Given the description of an element on the screen output the (x, y) to click on. 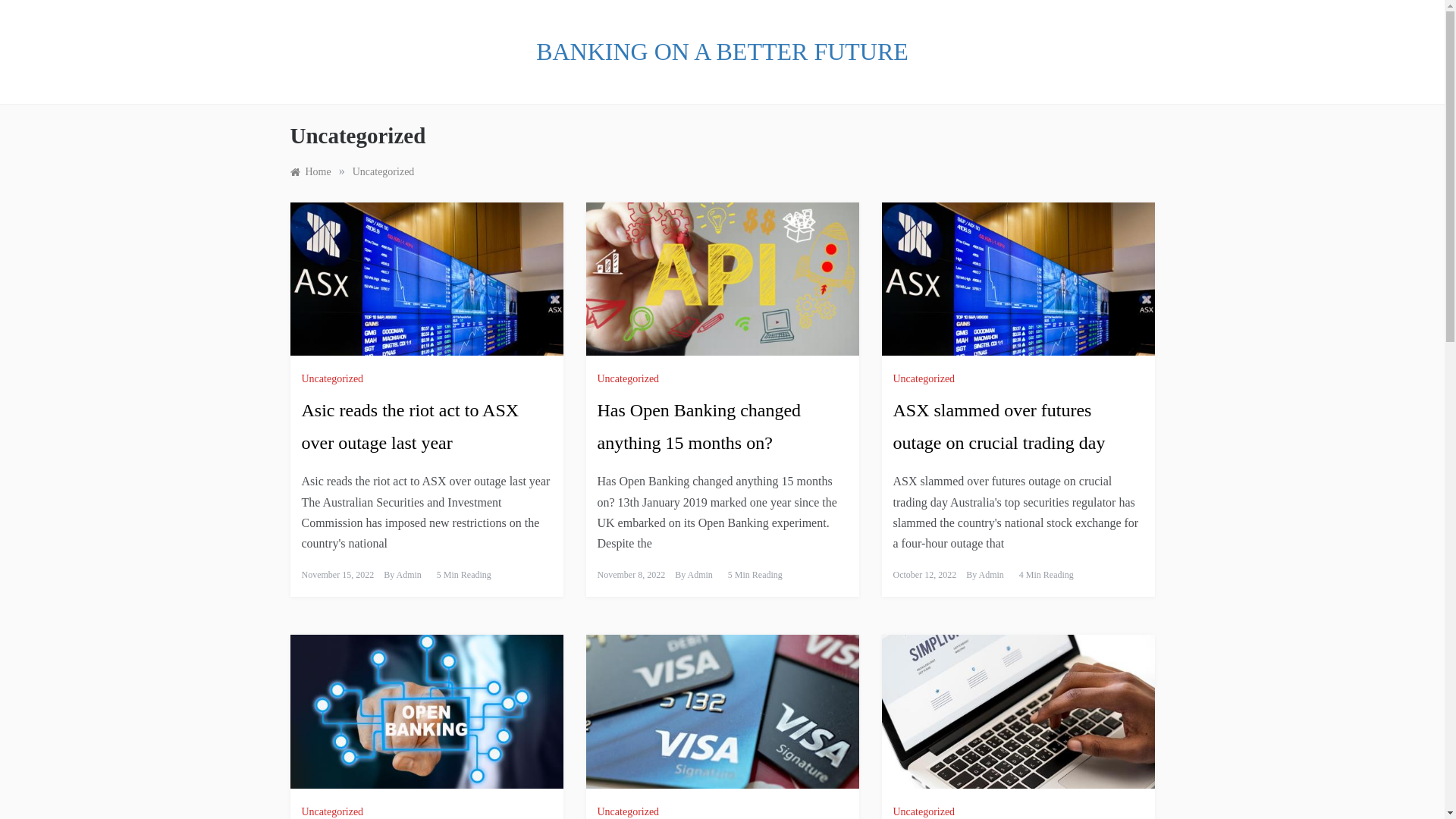
Uncategorized Element type: text (926, 811)
Home Element type: text (309, 171)
Asic reads the riot act to ASX over outage last year Element type: text (410, 426)
Admin Element type: text (407, 574)
October 12, 2022 Element type: text (925, 574)
Uncategorized Element type: text (334, 378)
Uncategorized Element type: text (383, 171)
November 8, 2022 Element type: text (631, 574)
Admin Element type: text (699, 574)
Has Open Banking changed anything 15 months on? Element type: text (699, 426)
Admin Element type: text (990, 574)
Uncategorized Element type: text (926, 378)
Uncategorized Element type: text (334, 811)
Uncategorized Element type: text (630, 811)
BANKING ON A BETTER FUTURE Element type: text (722, 51)
November 15, 2022 Element type: text (337, 574)
Uncategorized Element type: text (630, 378)
ASX slammed over futures outage on crucial trading day Element type: text (999, 426)
